Given the description of an element on the screen output the (x, y) to click on. 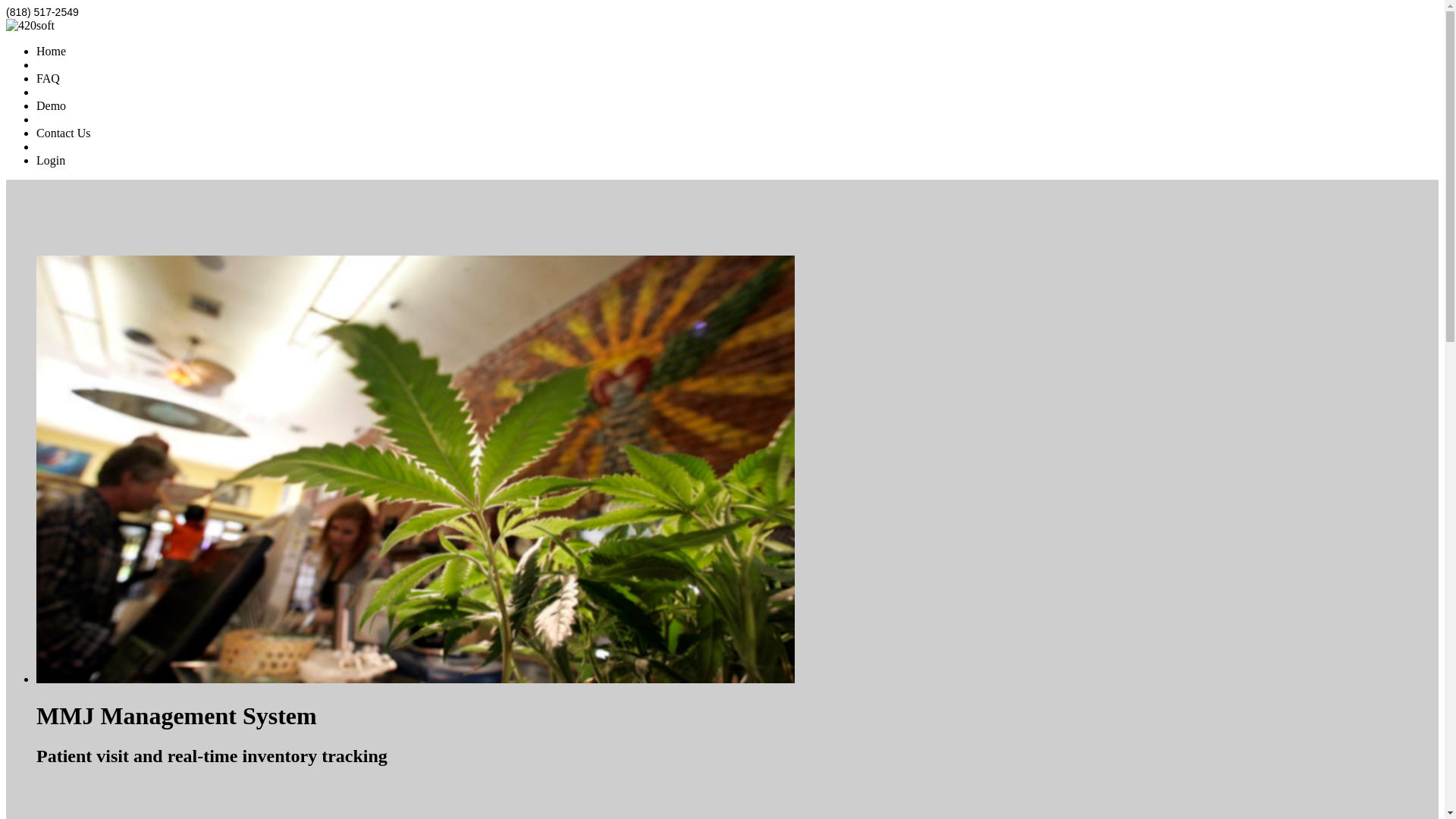
FAQ Element type: text (47, 78)
Contact Us Element type: text (63, 132)
Login Element type: text (50, 159)
Demo Element type: text (50, 105)
Home Element type: text (50, 50)
